Given the description of an element on the screen output the (x, y) to click on. 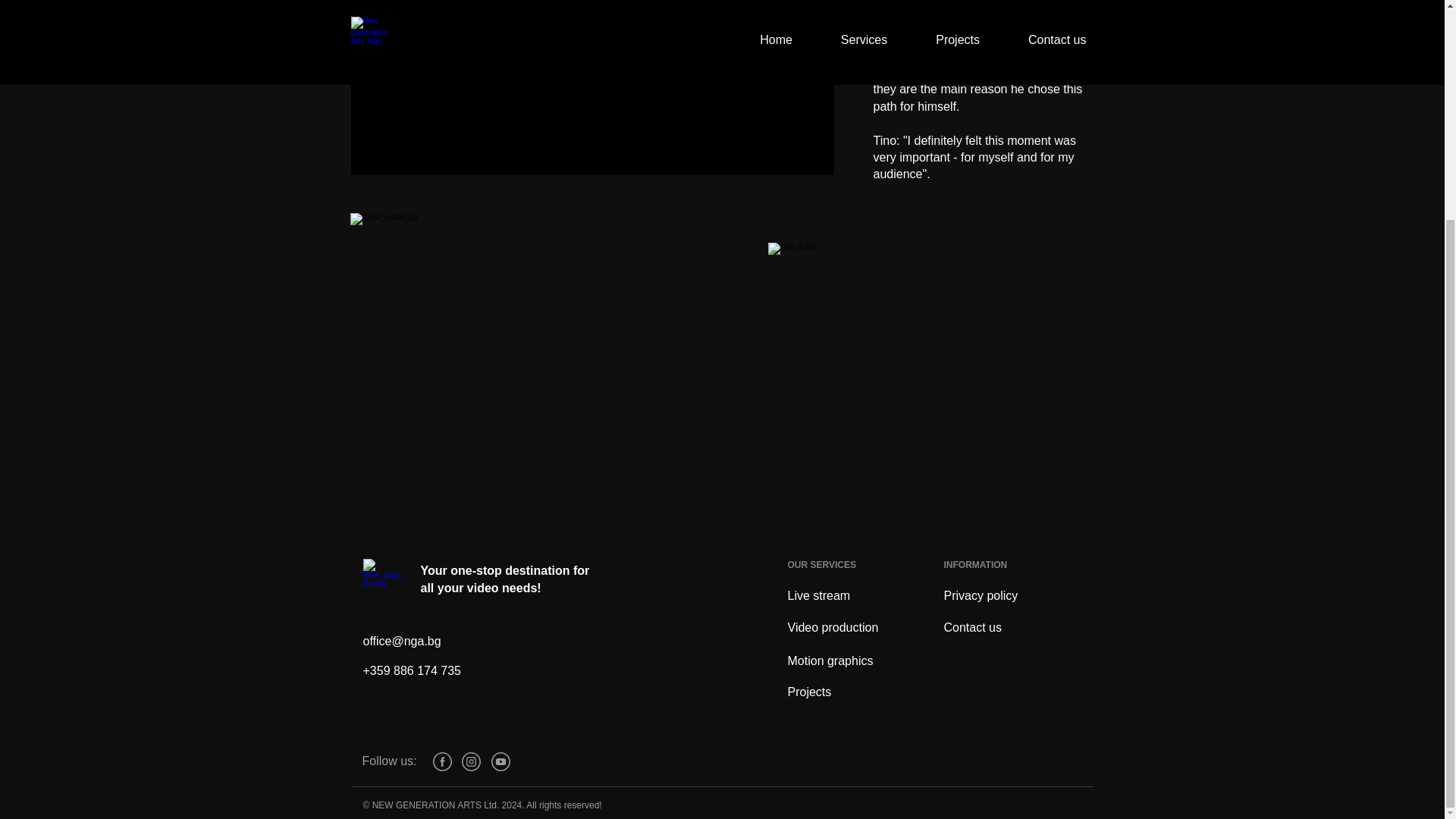
Live stream (818, 594)
Contact us (972, 626)
Privacy policy (980, 594)
Projects (809, 691)
